Given the description of an element on the screen output the (x, y) to click on. 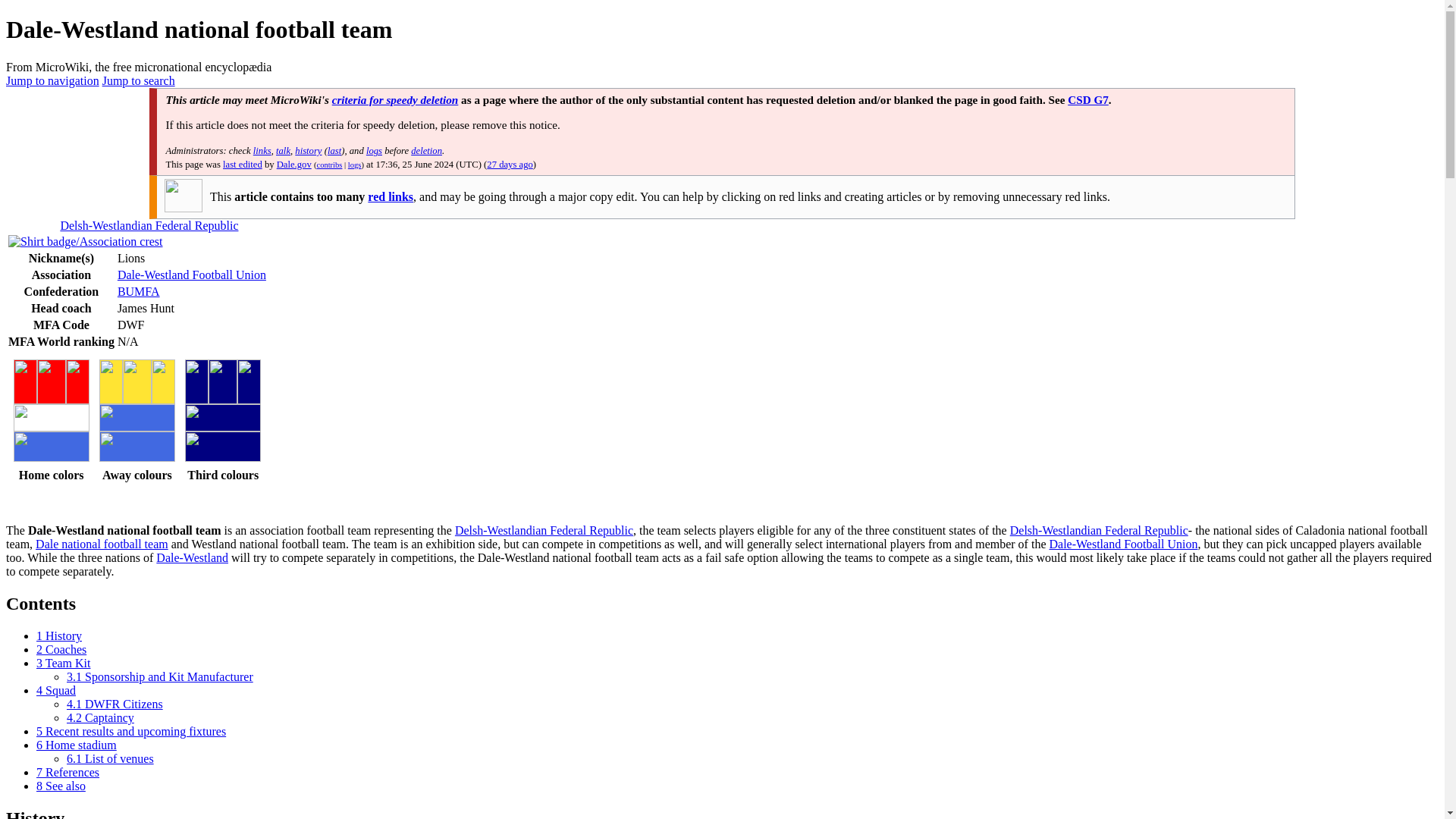
deletion (426, 150)
history (308, 150)
logs (373, 150)
27 days ago (509, 163)
4.2 Captaincy (99, 717)
2 Coaches (60, 649)
Dale-Westland Football Union (191, 274)
Delsh-Westlandian Federal Republic (1099, 530)
links (261, 150)
last edited (242, 163)
User:Dale.gov (293, 163)
MicroWiki:Criteria for speedy deletion (394, 99)
3 Team Kit (63, 662)
Dale-Westland Football Union (1122, 543)
4 Squad (55, 689)
